Given the description of an element on the screen output the (x, y) to click on. 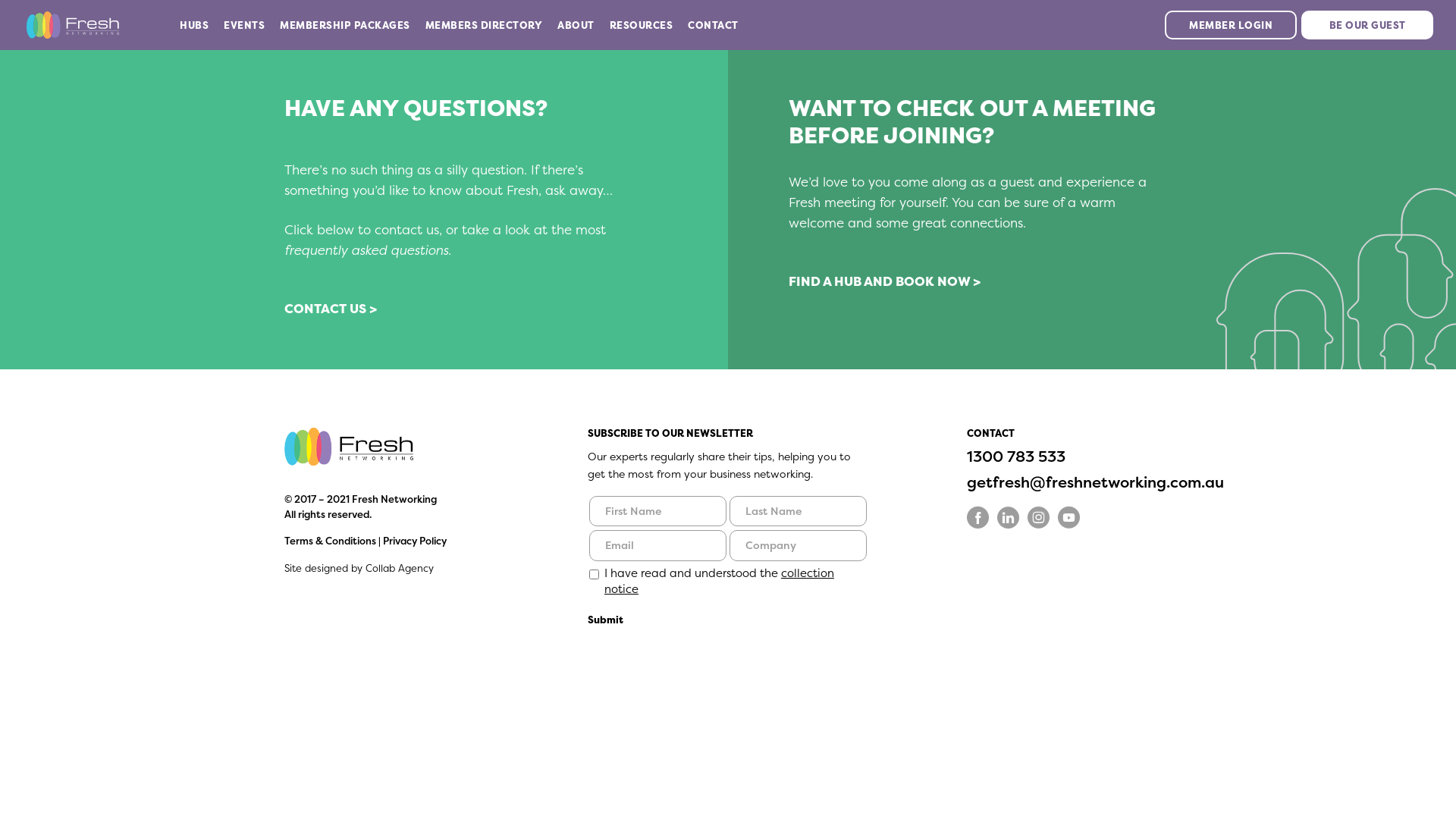
frequently asked questions Element type: text (366, 249)
BE OUR GUEST Element type: text (1367, 24)
RESOURCES Element type: text (641, 24)
EVENTS Element type: text (243, 24)
getfresh@freshnetworking.com.au Element type: text (1094, 481)
CONTACT Element type: text (712, 24)
Terms & Conditions Element type: text (330, 540)
Privacy Policy Element type: text (414, 540)
MEMBERSHIP PACKAGES Element type: text (344, 24)
collection notice Element type: text (719, 580)
FIND A HUB AND BOOK NOW > Element type: text (884, 280)
MEMBER LOGIN Element type: text (1230, 24)
CONTACT US > Element type: text (330, 307)
Collab Agency Element type: text (399, 567)
MEMBERS DIRECTORY Element type: text (483, 24)
Submit Element type: text (605, 619)
1300 783 533 Element type: text (1015, 455)
ABOUT Element type: text (575, 24)
HUBS Element type: text (193, 24)
